Given the description of an element on the screen output the (x, y) to click on. 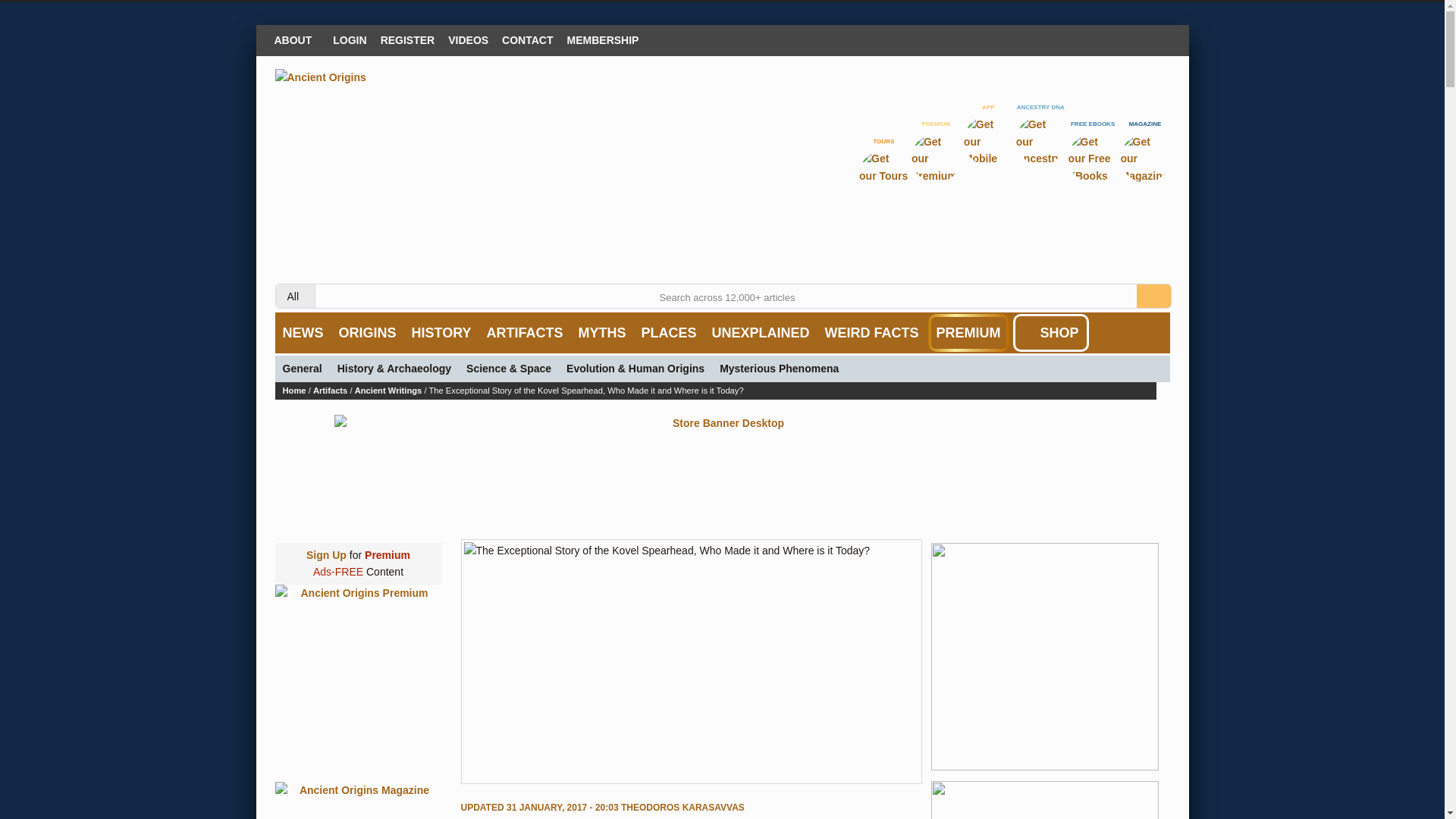
VIDEOS (468, 40)
Video Gallery (468, 40)
LOGIN (349, 40)
CONTACT (526, 40)
MEMBERSHIP (603, 40)
Contact us (526, 40)
REGISTER (408, 40)
Our Mission (296, 40)
Become a registered user (408, 40)
Find (1152, 295)
